Given the description of an element on the screen output the (x, y) to click on. 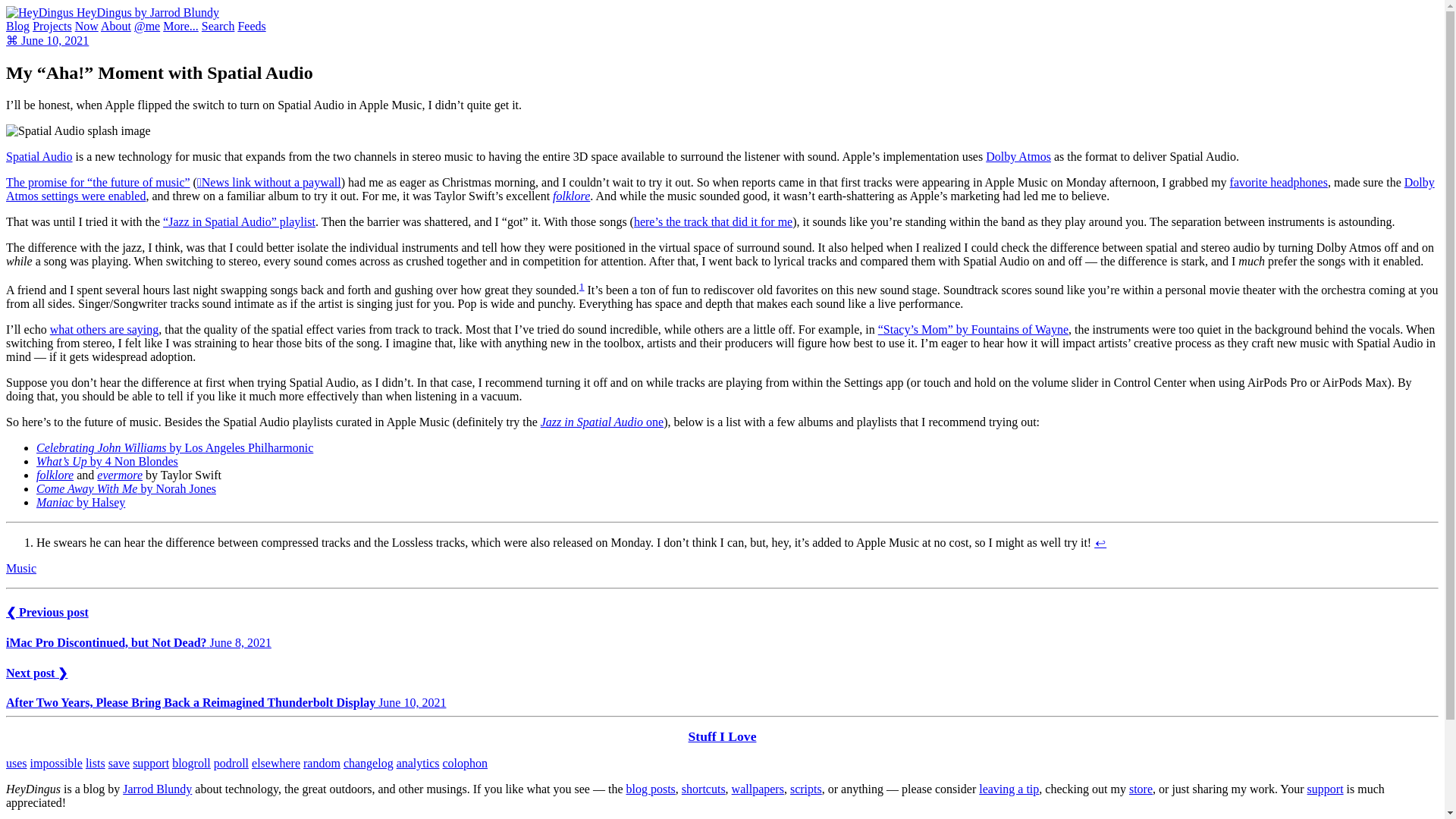
About (115, 25)
Now (87, 25)
what others are saying (103, 328)
return to article (1100, 542)
More... (180, 25)
Spatial Audio (38, 155)
Feeds (250, 25)
folklore (55, 474)
favorite headphones (1278, 182)
blogroll (191, 762)
More... (180, 25)
Dolby Atmos (1018, 155)
About (115, 25)
folklore (571, 195)
evermore (119, 474)
